Given the description of an element on the screen output the (x, y) to click on. 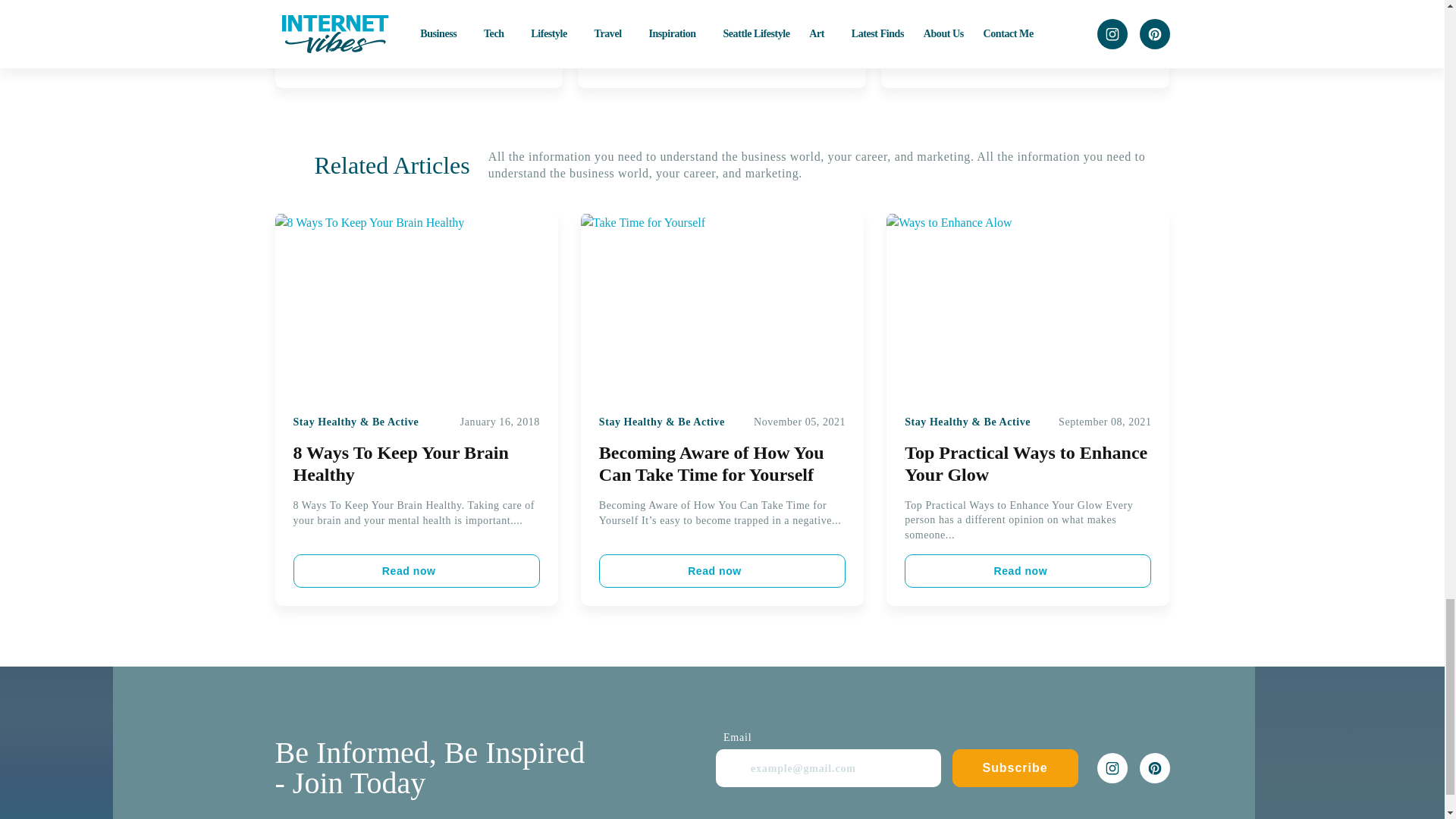
Subscribe (1015, 768)
